Given the description of an element on the screen output the (x, y) to click on. 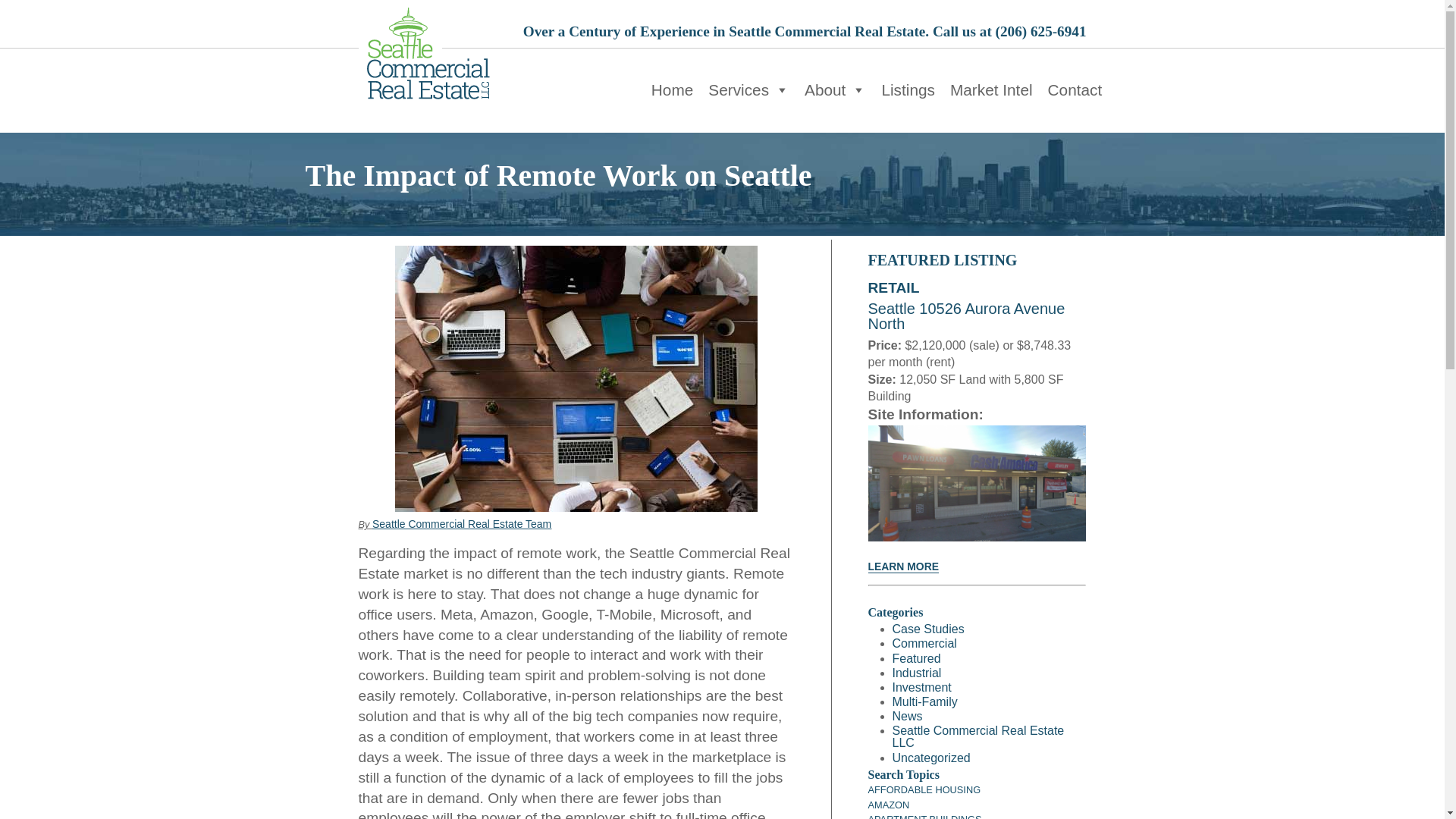
Services (748, 90)
Cash America Building for Lease and Sale (902, 566)
Home (671, 90)
Posts by Seattle Commercial Real Estate Team (461, 523)
Seattle Commercial Real Estate (424, 53)
About (834, 90)
